Given the description of an element on the screen output the (x, y) to click on. 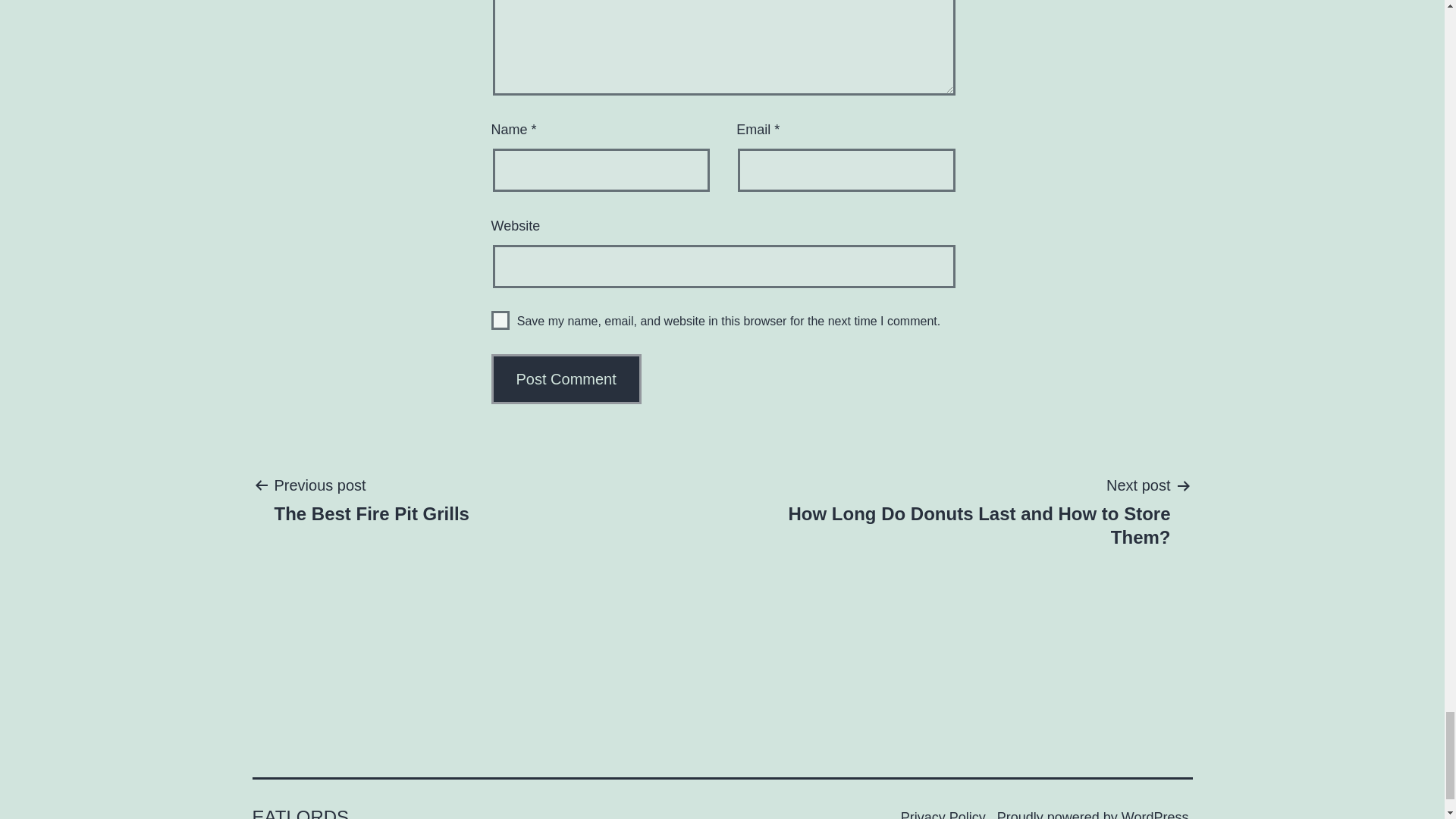
yes (500, 320)
Post Comment (567, 378)
Post Comment (567, 378)
